Given the description of an element on the screen output the (x, y) to click on. 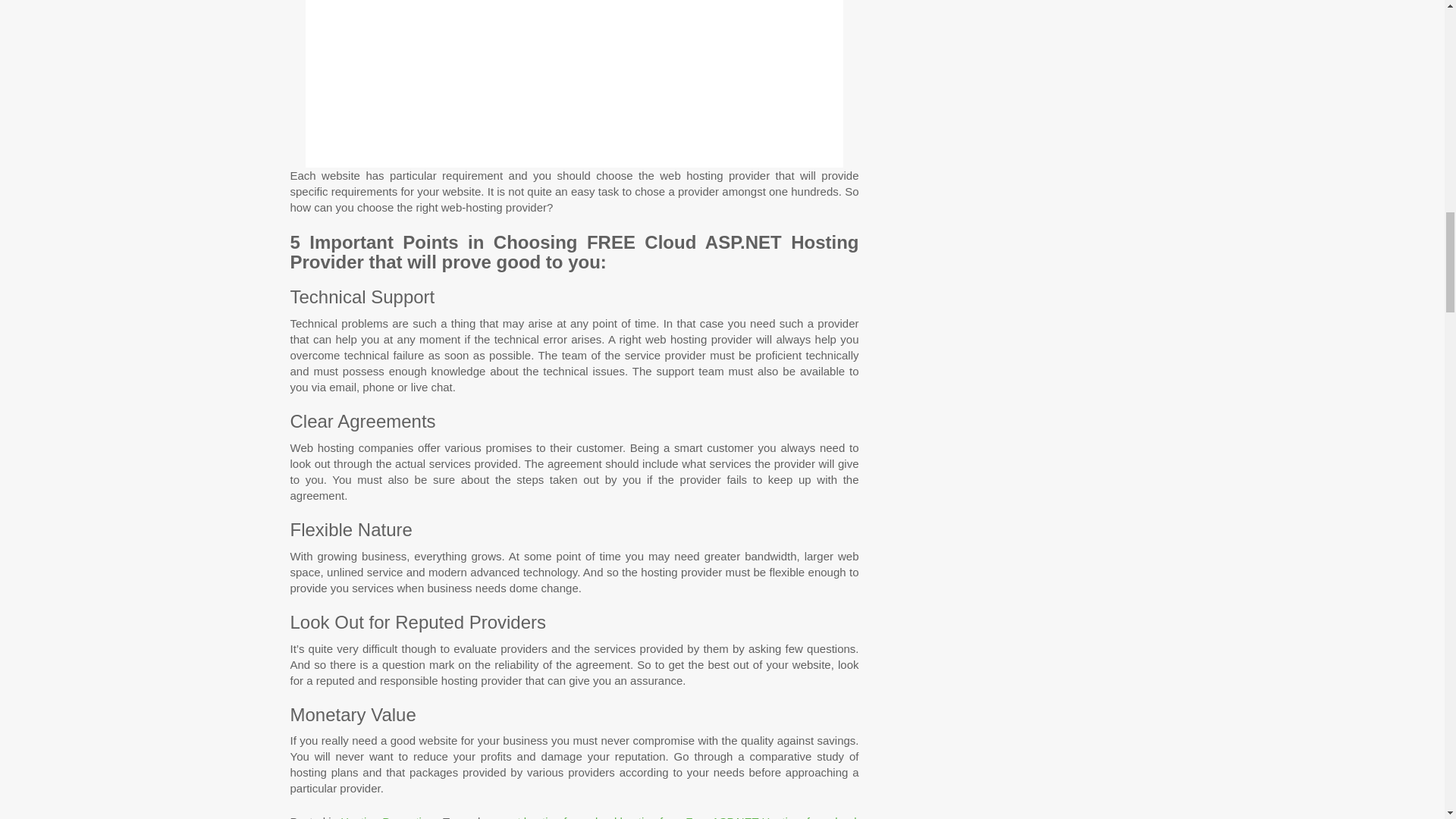
asp.net hosting free (533, 816)
Free ASP.NET Hosting (742, 816)
cloud hosting free (634, 816)
FREE Cloud ASP.NET Hosting (574, 83)
Hosting Promotions (389, 816)
